Given the description of an element on the screen output the (x, y) to click on. 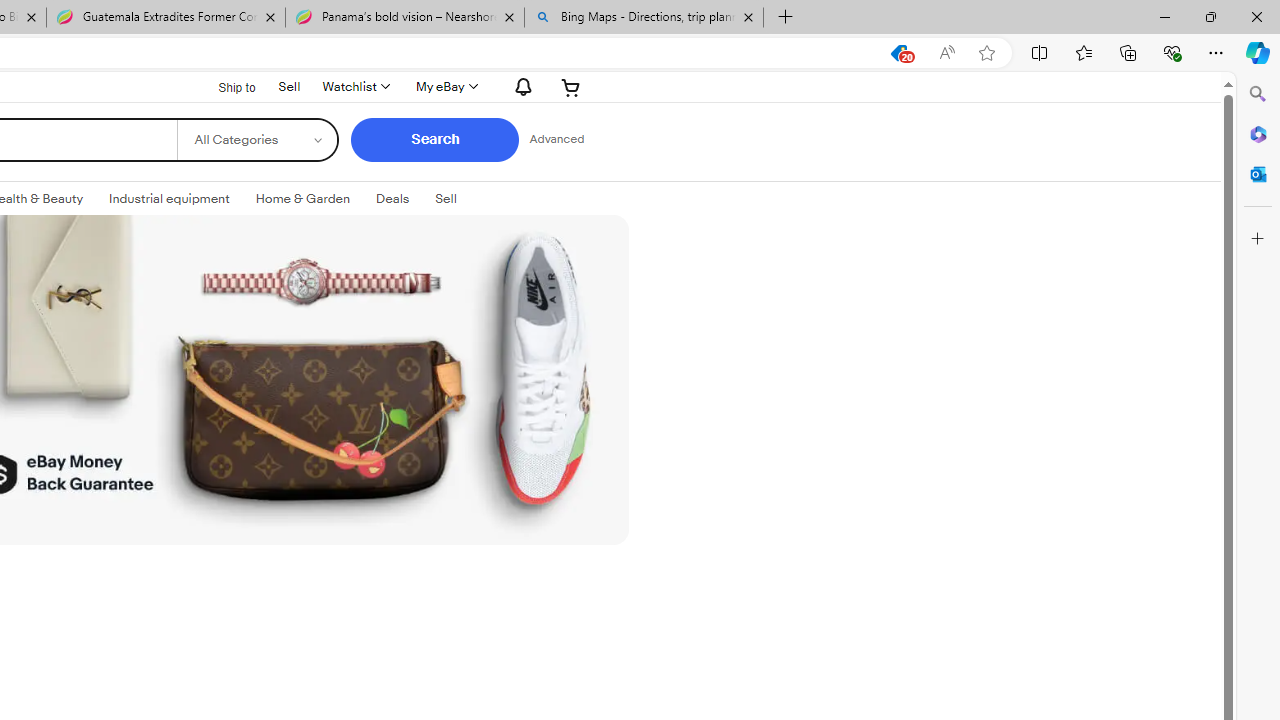
Your shopping cart (570, 86)
Home & Garden (302, 198)
WatchlistExpand Watch List (355, 86)
Deals (392, 199)
SellExpand: Sell (445, 199)
Advanced Search (556, 139)
